Given the description of an element on the screen output the (x, y) to click on. 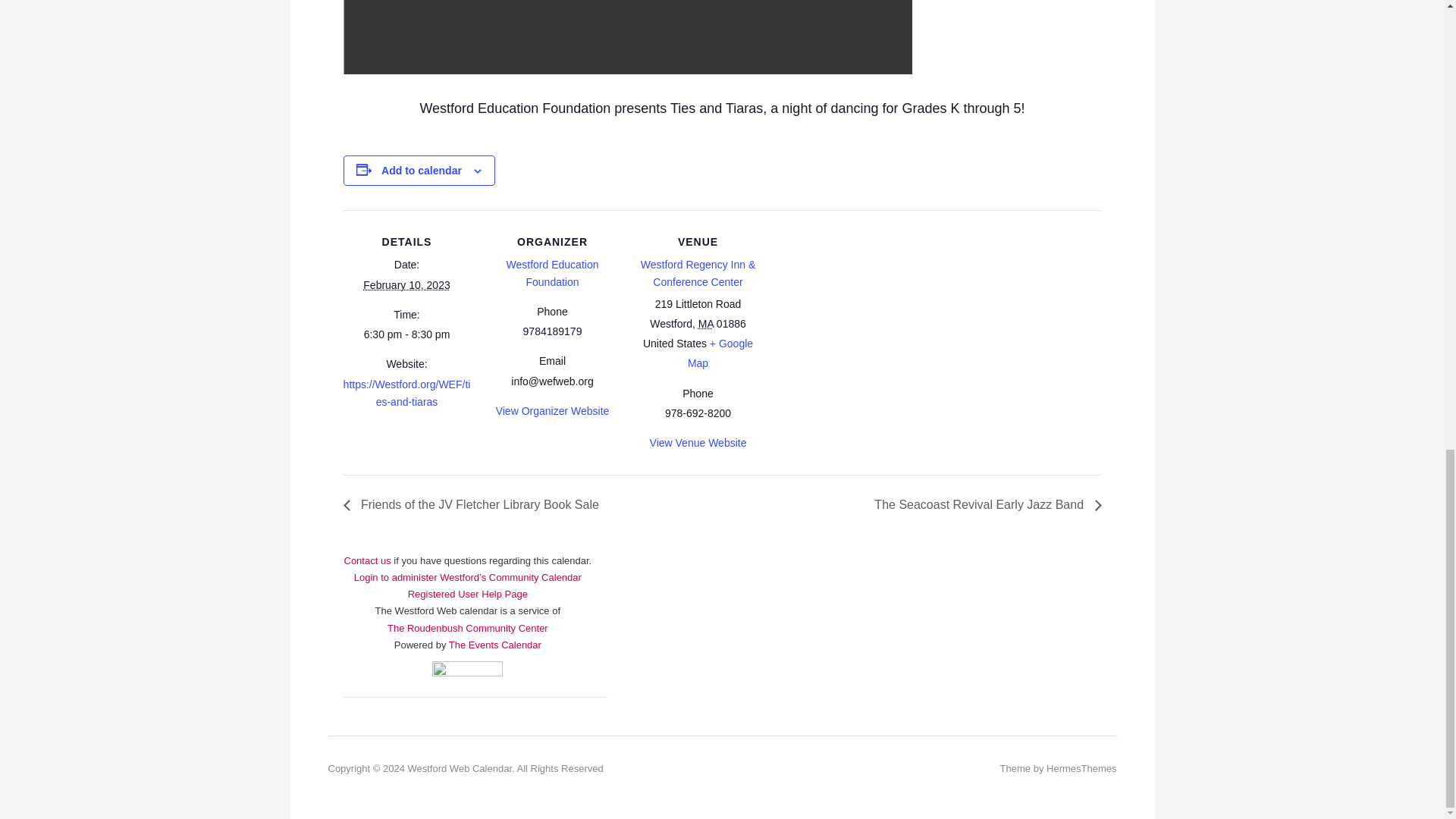
The Roudenbush Community Center (467, 627)
View Venue Website (697, 442)
Registered User Help Page (467, 593)
2023-02-10 (405, 285)
HermesThemes (1081, 767)
The Seacoast Revival Early Jazz Band (983, 504)
Contact us (405, 569)
Westford Education Foundation (552, 273)
Friends of the JV Fletcher Library Book Sale (474, 504)
Westford Education Foundation (552, 273)
Massachusetts (705, 323)
2023-02-10 (406, 334)
Add to calendar (421, 170)
View Organizer Website (553, 410)
Click to view a Google Map (719, 353)
